Given the description of an element on the screen output the (x, y) to click on. 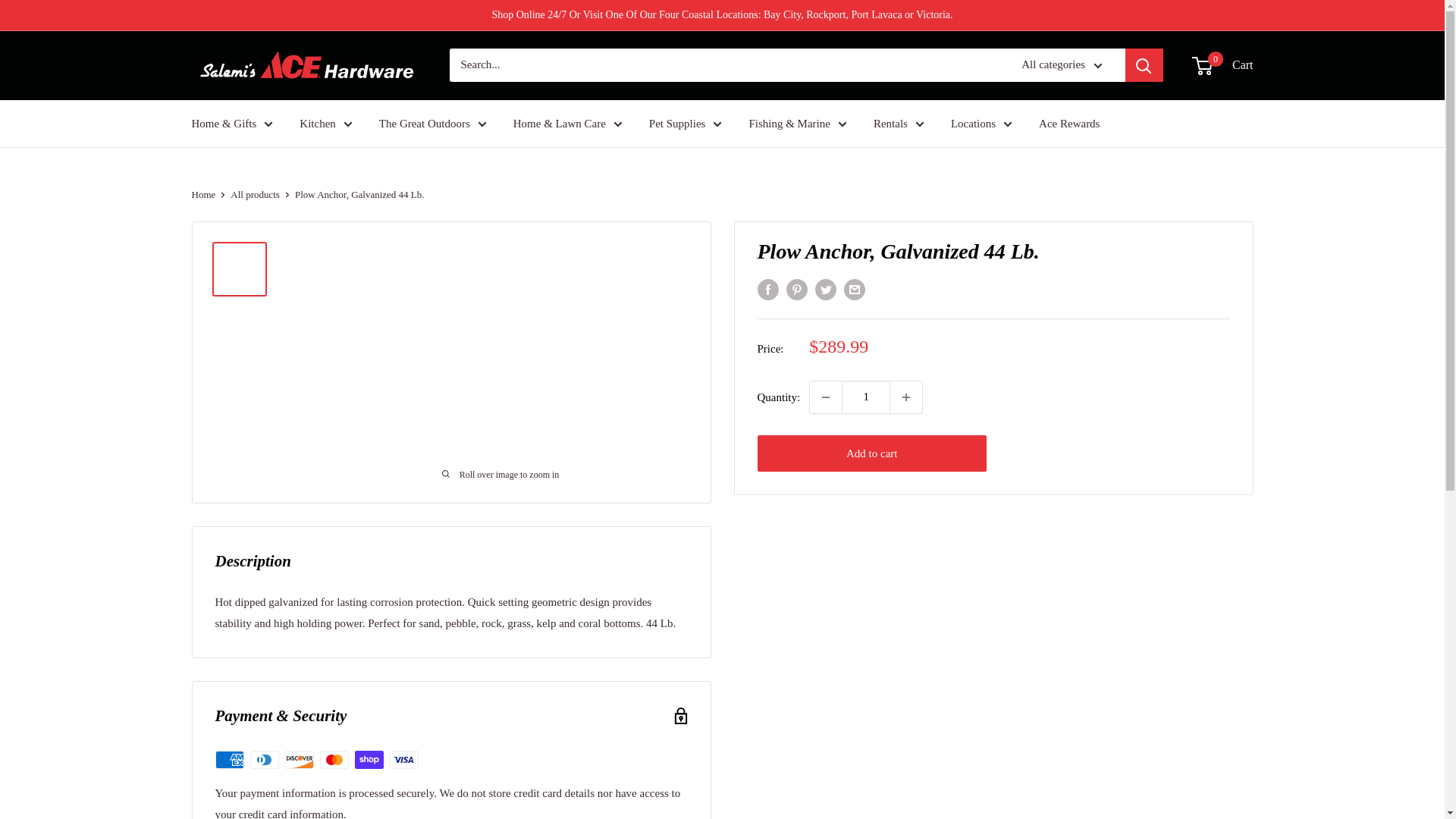
Decrease quantity by 1 (825, 397)
1 (865, 397)
Increase quantity by 1 (905, 397)
